Given the description of an element on the screen output the (x, y) to click on. 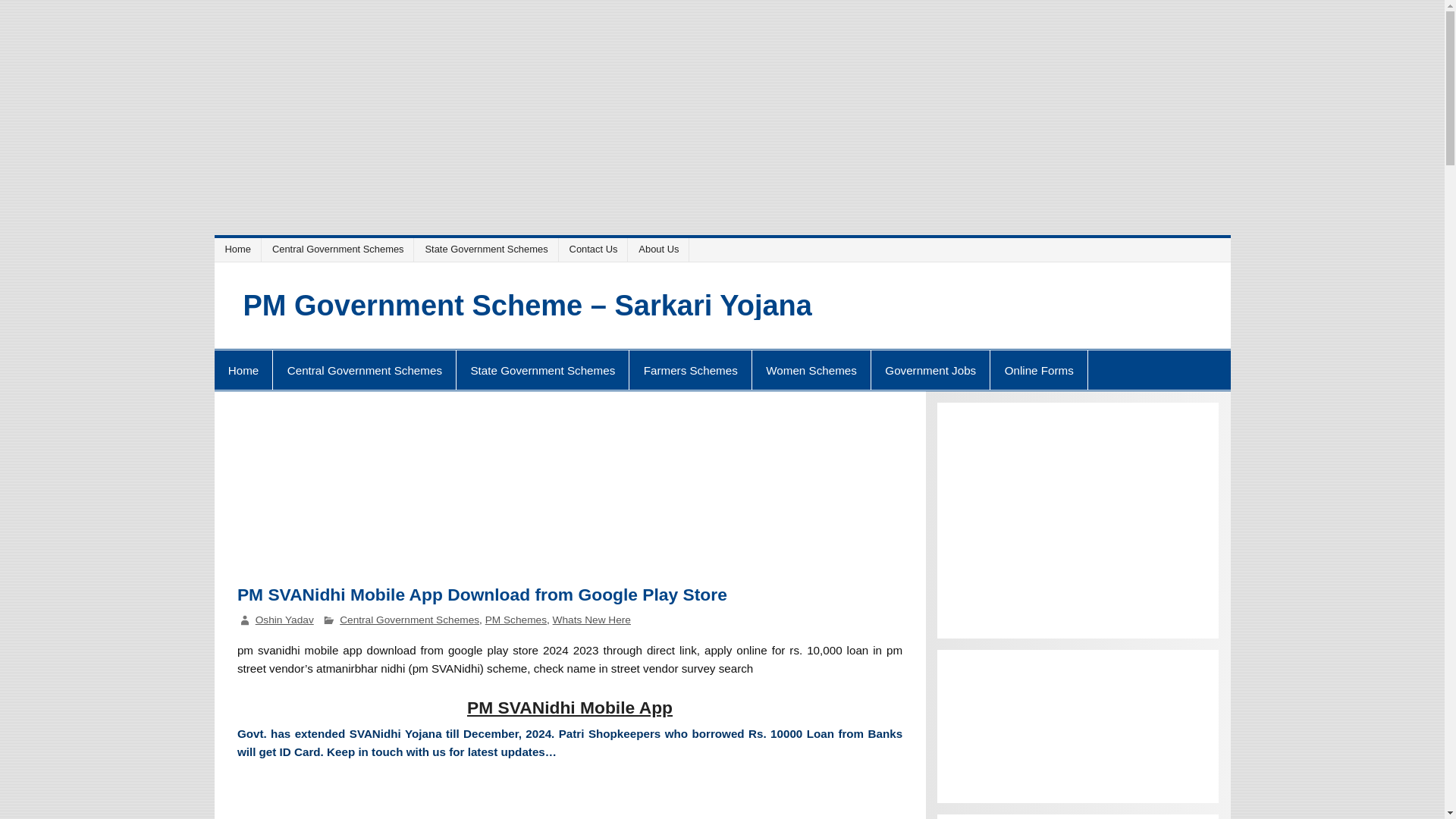
State Government Schemes (488, 249)
Central Government Schemes (364, 369)
State Government Schemes (542, 369)
Women Schemes (811, 369)
Contact Us (595, 249)
Central Government Schemes (339, 249)
Farmers Schemes (689, 369)
About Us (660, 249)
Government Jobs (930, 369)
Advertisement (1078, 520)
Online Forms (1038, 369)
View all posts by Oshin Yadav (285, 619)
Home (239, 249)
Advertisement (569, 495)
